Given the description of an element on the screen output the (x, y) to click on. 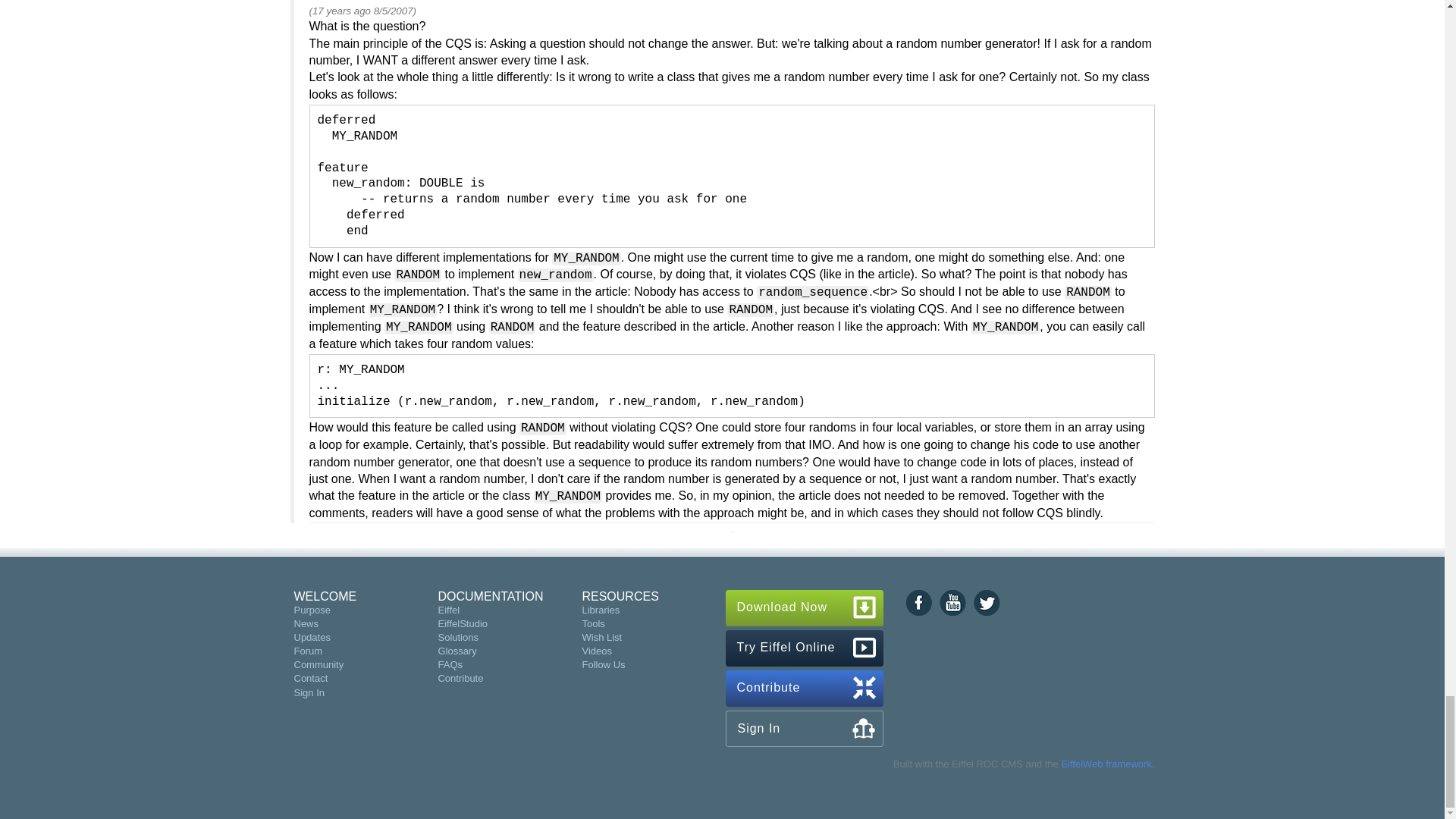
Purpose (312, 610)
Tools (592, 623)
Community (318, 664)
Contribute (460, 678)
News (306, 623)
Sign In (309, 693)
Solutions (457, 637)
Contact (311, 678)
Forum (308, 651)
WELCOME (325, 596)
RESOURCES (619, 596)
Glossary (457, 651)
Libraries (600, 610)
FAQs (450, 664)
Videos (595, 651)
